Given the description of an element on the screen output the (x, y) to click on. 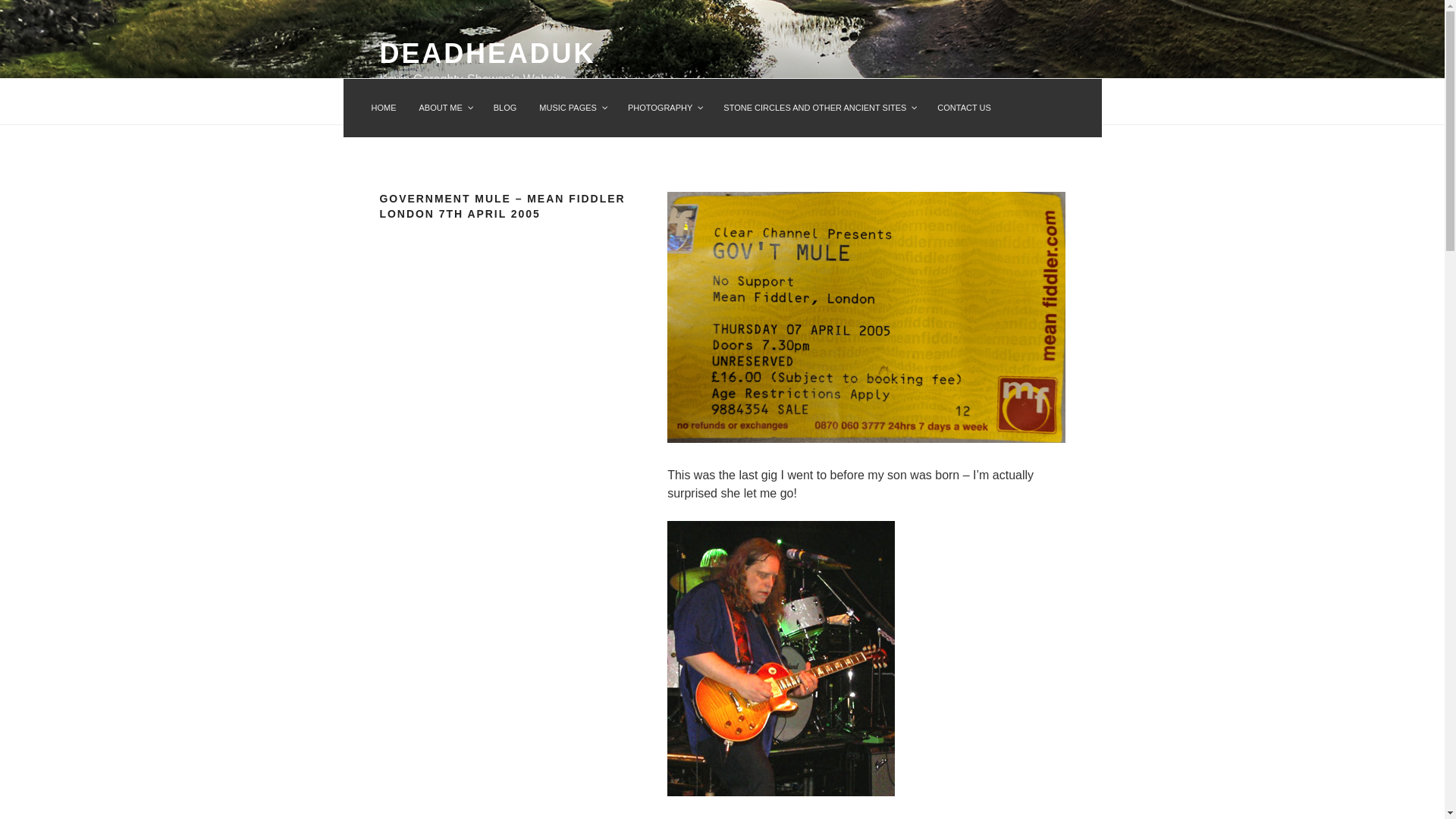
ABOUT ME (444, 107)
DEADHEADUK (486, 52)
MUSIC PAGES (571, 107)
HOME (383, 107)
BLOG (504, 107)
